Given the description of an element on the screen output the (x, y) to click on. 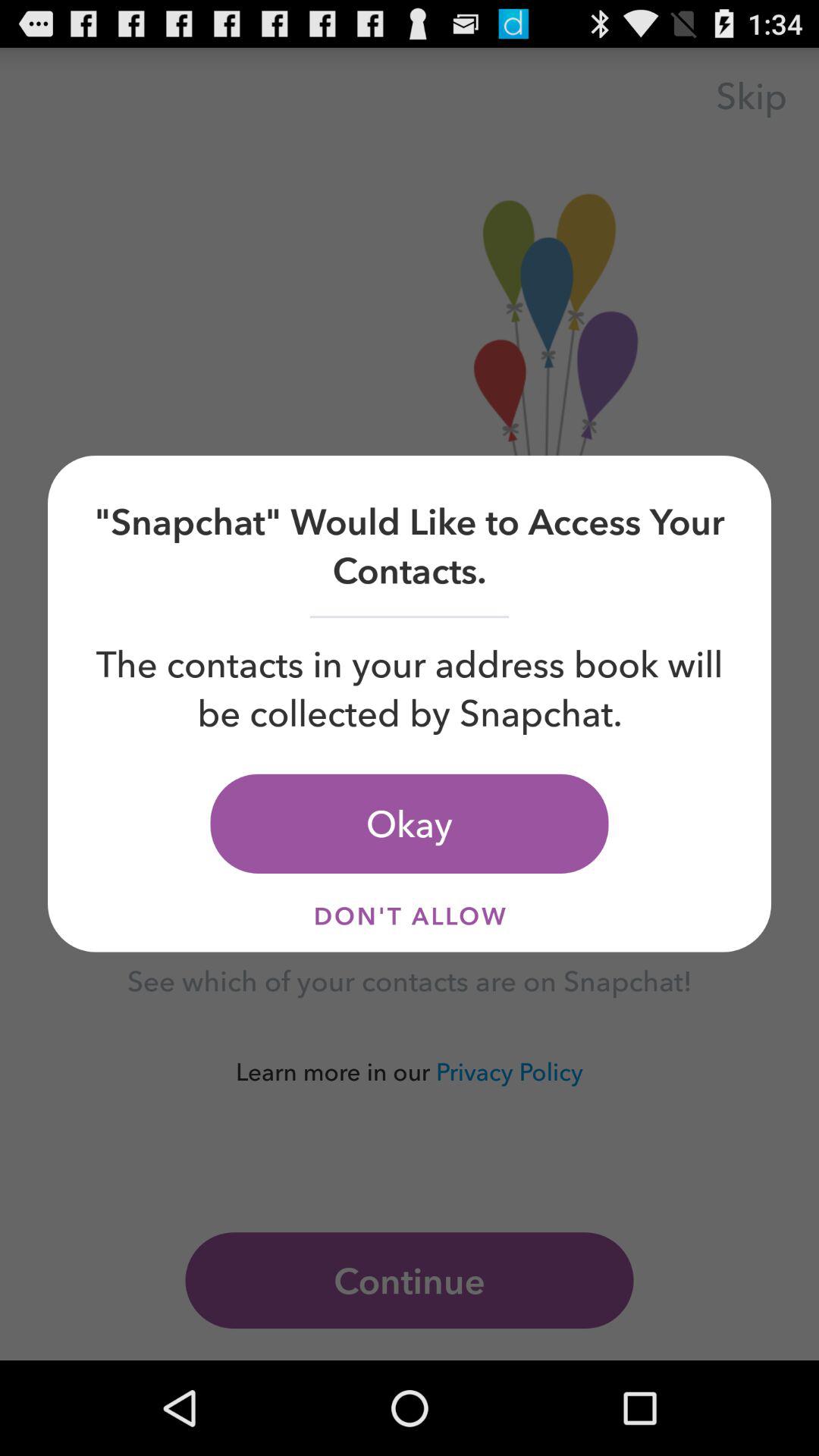
open the item above the don't allow item (409, 823)
